Given the description of an element on the screen output the (x, y) to click on. 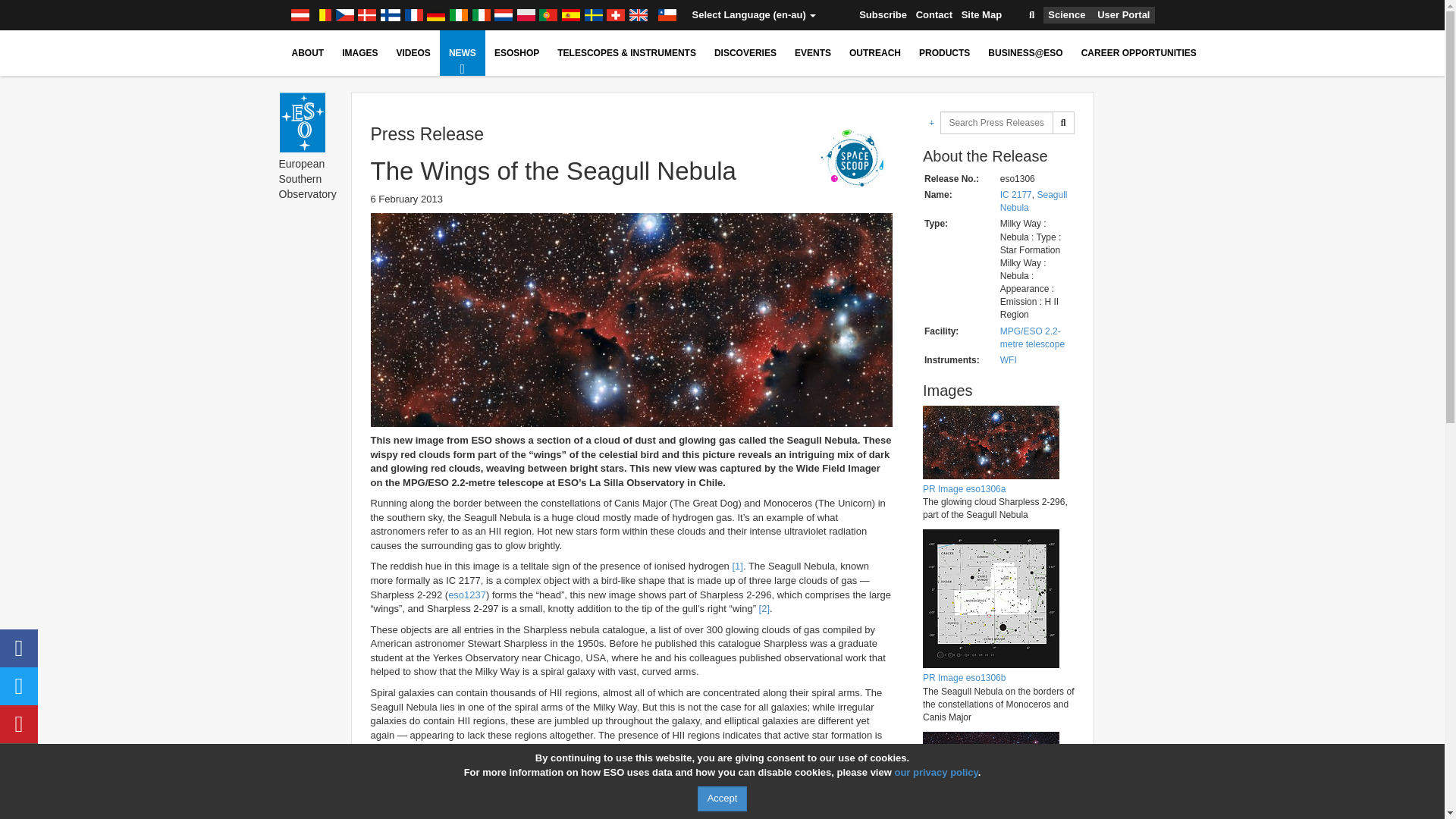
User Portal (1123, 14)
Italy (481, 15)
our privacy policy (934, 772)
Netherlands (503, 15)
Finland (390, 15)
Portugal (547, 15)
Ireland (458, 15)
Accept (722, 798)
ABOUT (307, 53)
Germany (435, 15)
